Given the description of an element on the screen output the (x, y) to click on. 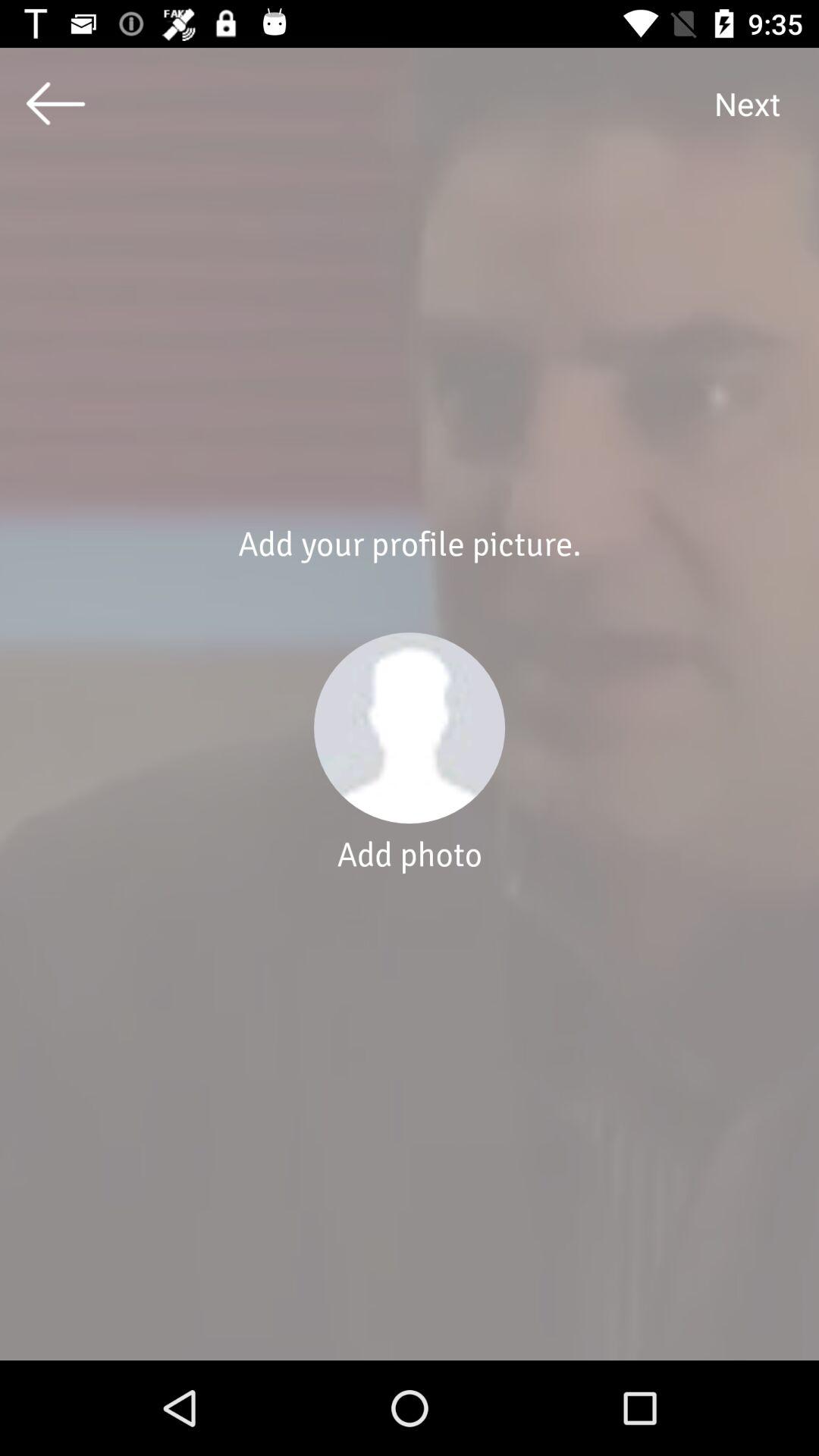
go back (55, 103)
